Given the description of an element on the screen output the (x, y) to click on. 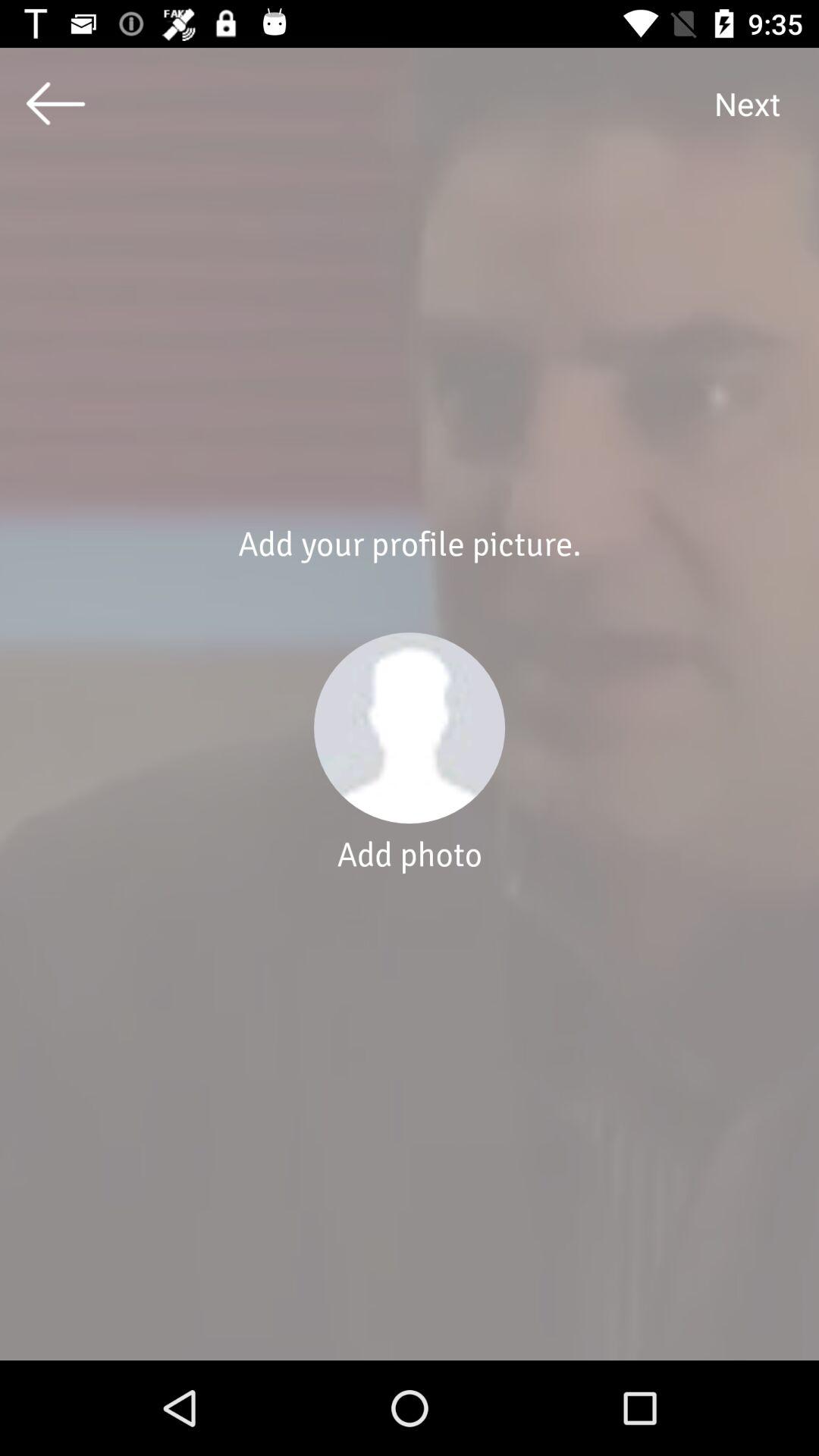
go back (55, 103)
